Given the description of an element on the screen output the (x, y) to click on. 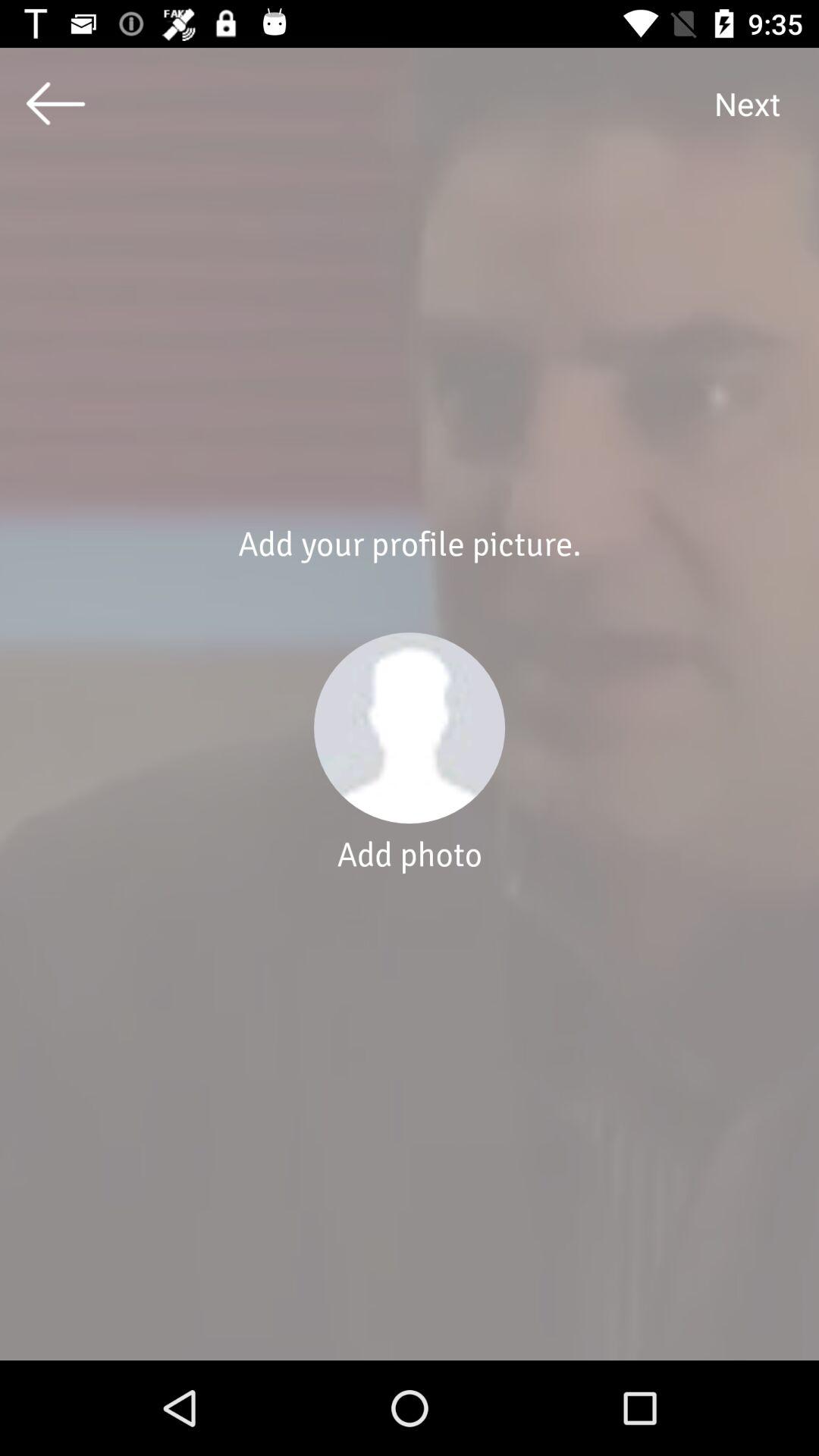
go back (55, 103)
